Given the description of an element on the screen output the (x, y) to click on. 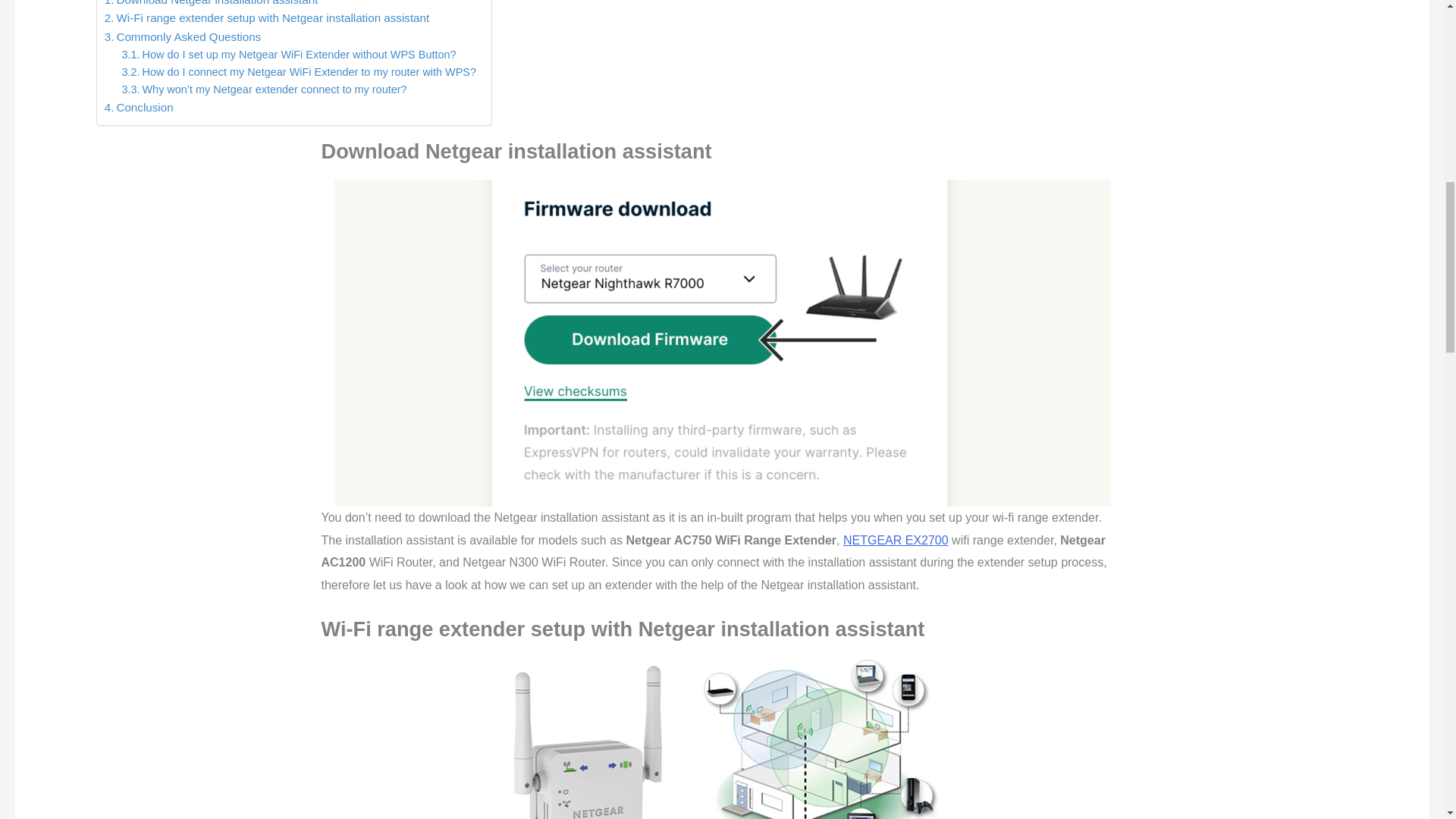
Conclusion (138, 107)
Download Netgear installation assistant (211, 4)
Download Netgear installation assistant (211, 4)
Commonly Asked Questions (183, 36)
Commonly Asked Questions (183, 36)
NETGEAR EX2700 (896, 540)
How do I set up my Netgear WiFi Extender without WPS Button? (289, 54)
Conclusion (138, 107)
